Given the description of an element on the screen output the (x, y) to click on. 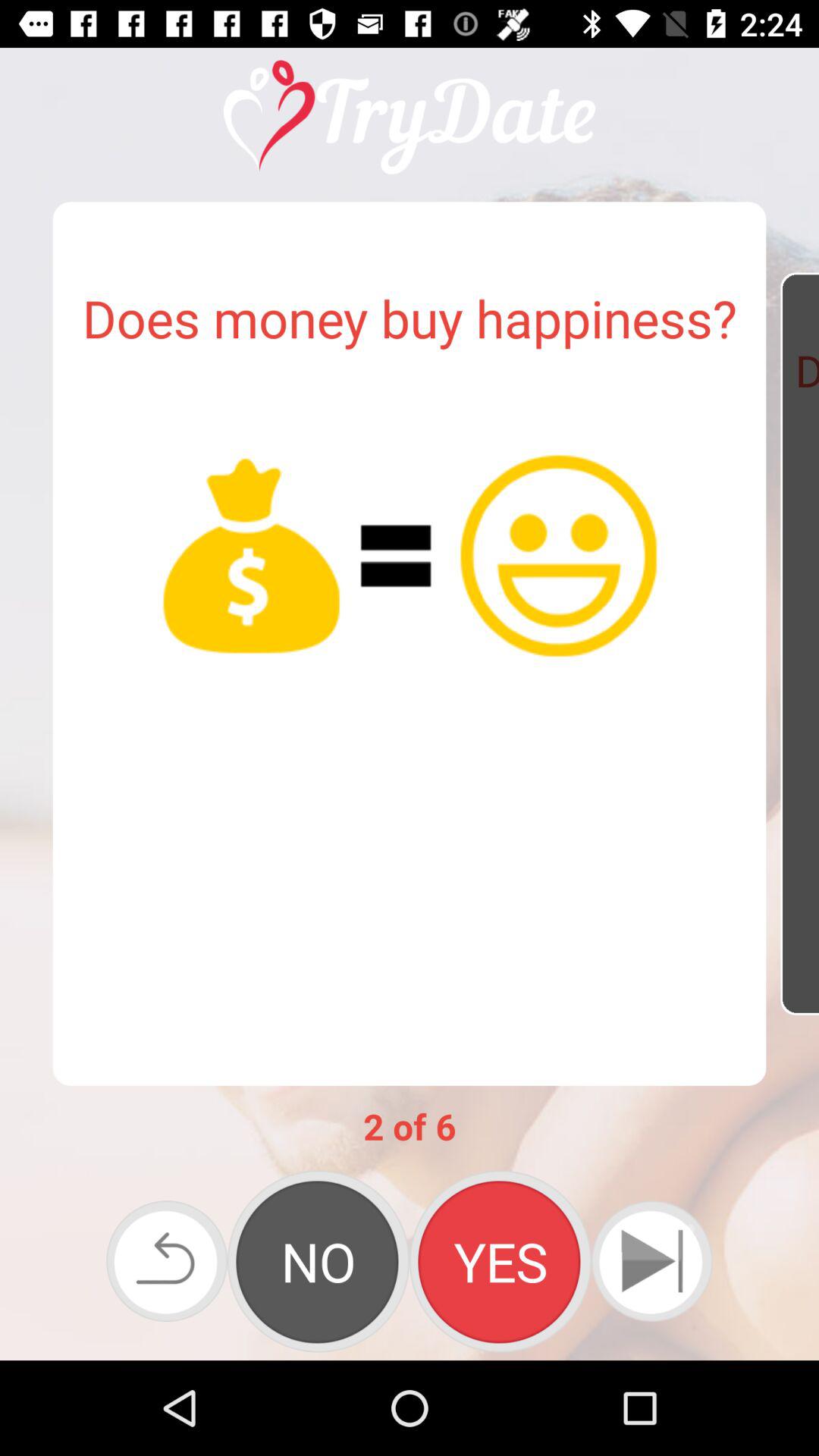
open item below the 2 of 6 icon (318, 1261)
